Given the description of an element on the screen output the (x, y) to click on. 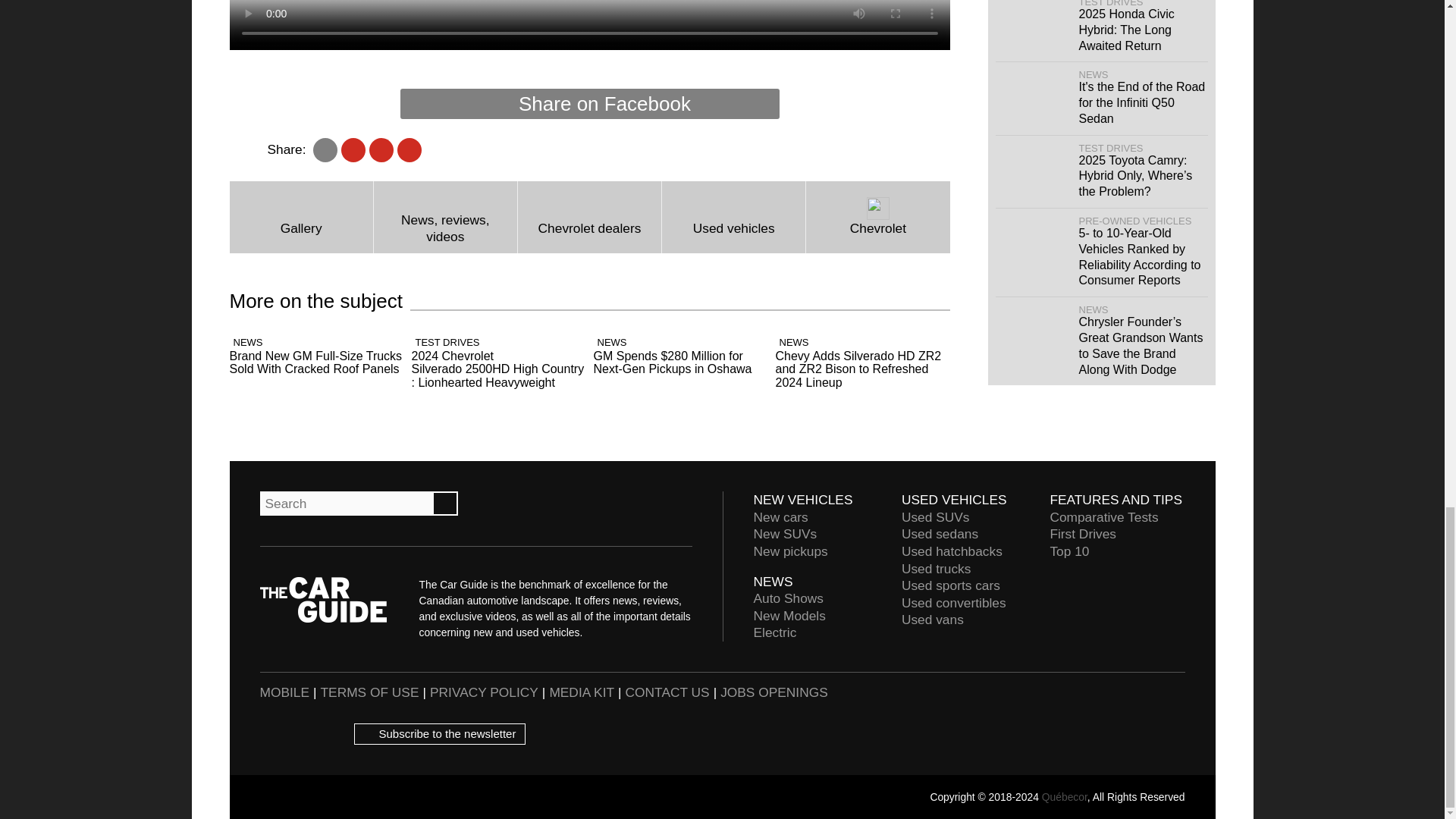
Le Guide de l'auto (1078, 714)
Otogo (1149, 714)
Used Chevrolet (733, 216)
Share on Facebook (589, 103)
